Given the description of an element on the screen output the (x, y) to click on. 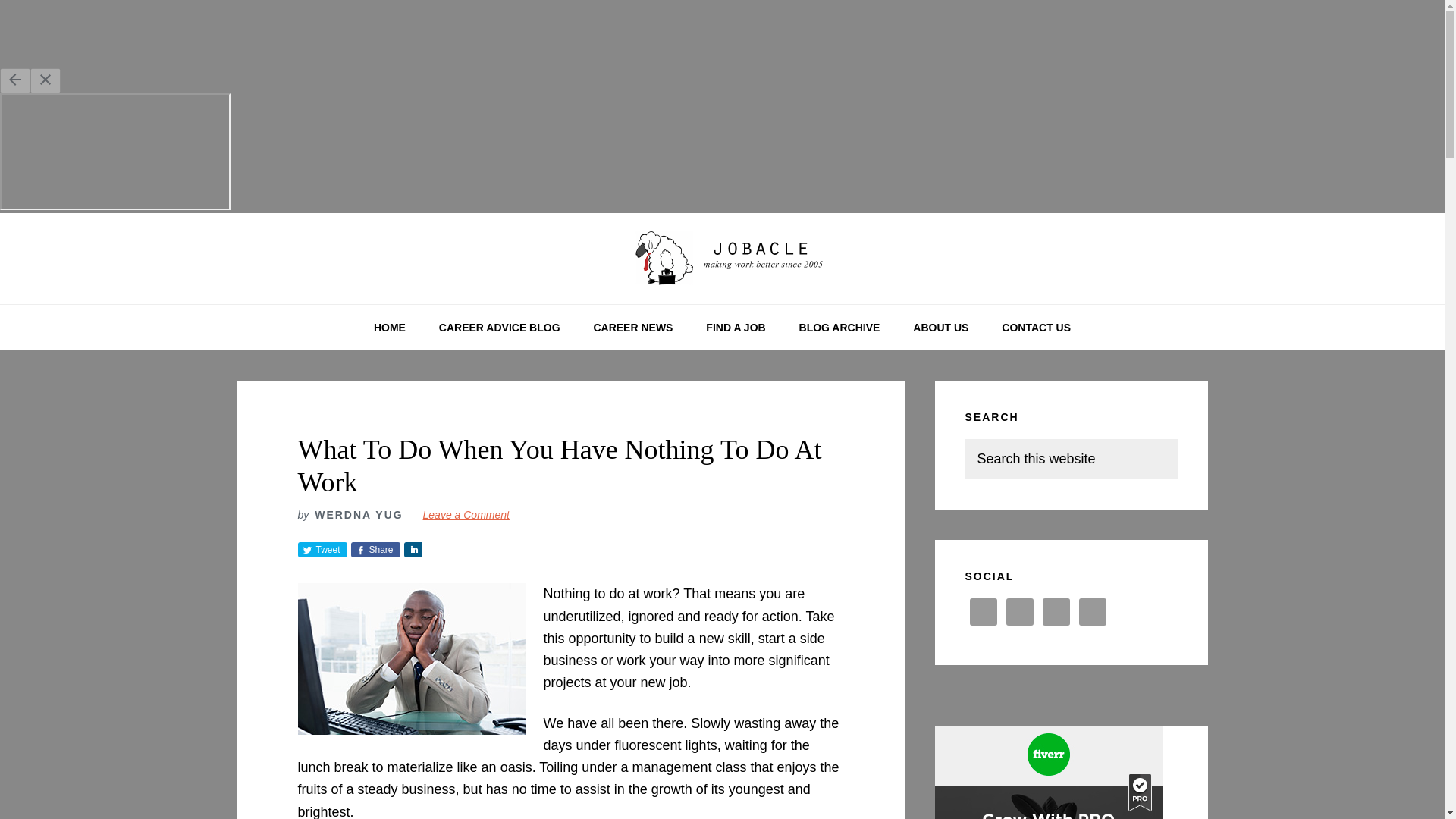
Jobacle.com (721, 258)
WERDNA YUG (358, 514)
CAREER NEWS (632, 327)
Leave a Comment (466, 514)
HOME (389, 327)
CAREER ADVICE BLOG (499, 327)
BLOG ARCHIVE (839, 327)
Share (374, 549)
Tweet (321, 549)
Share (412, 549)
CONTACT US (1036, 327)
ABOUT US (941, 327)
